Given the description of an element on the screen output the (x, y) to click on. 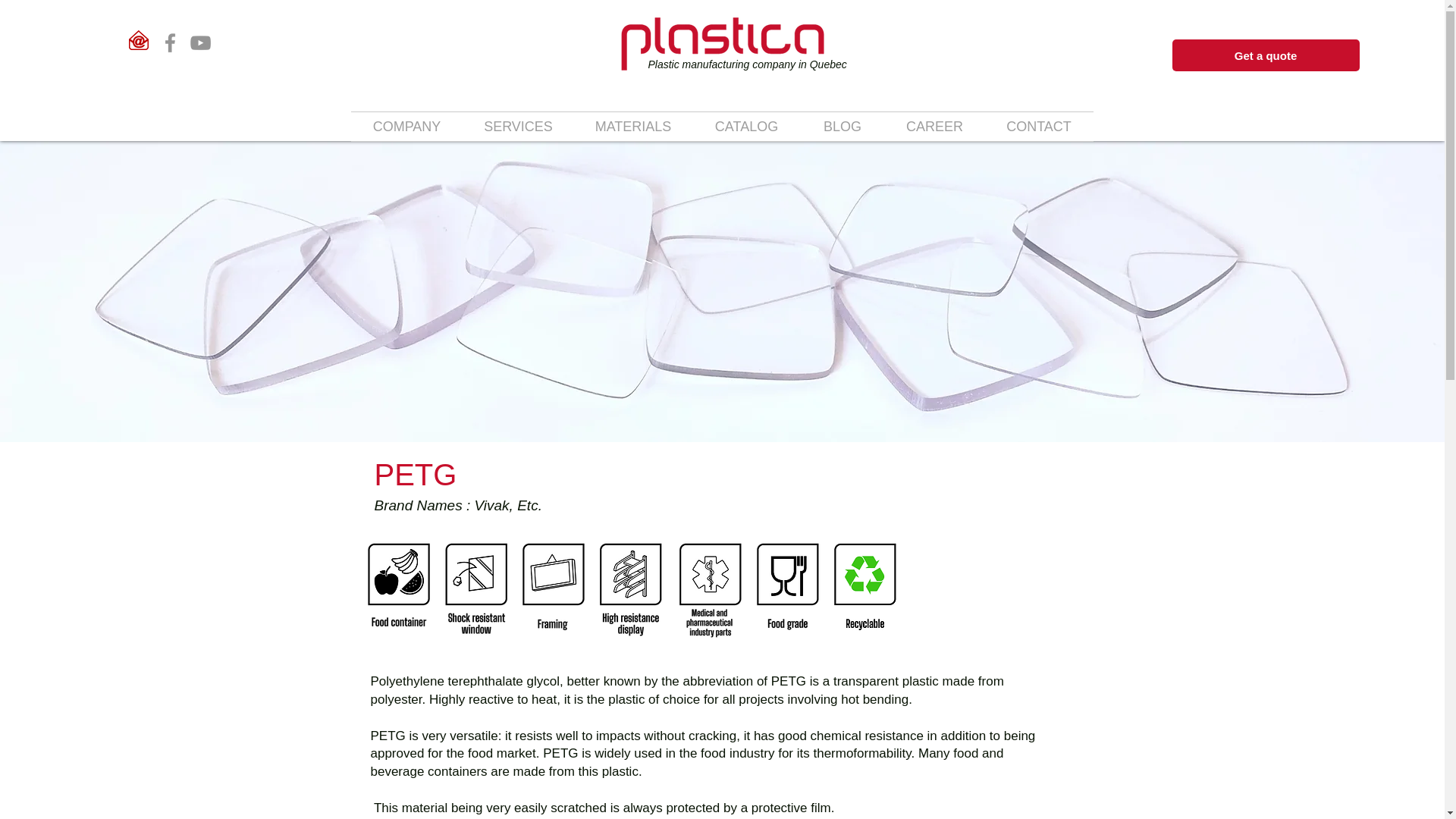
BLOG (842, 126)
COMPANY (406, 126)
Get a quote (1265, 55)
Newsletter subscription (138, 39)
CONTACT (1038, 126)
CAREER (933, 126)
